Given the description of an element on the screen output the (x, y) to click on. 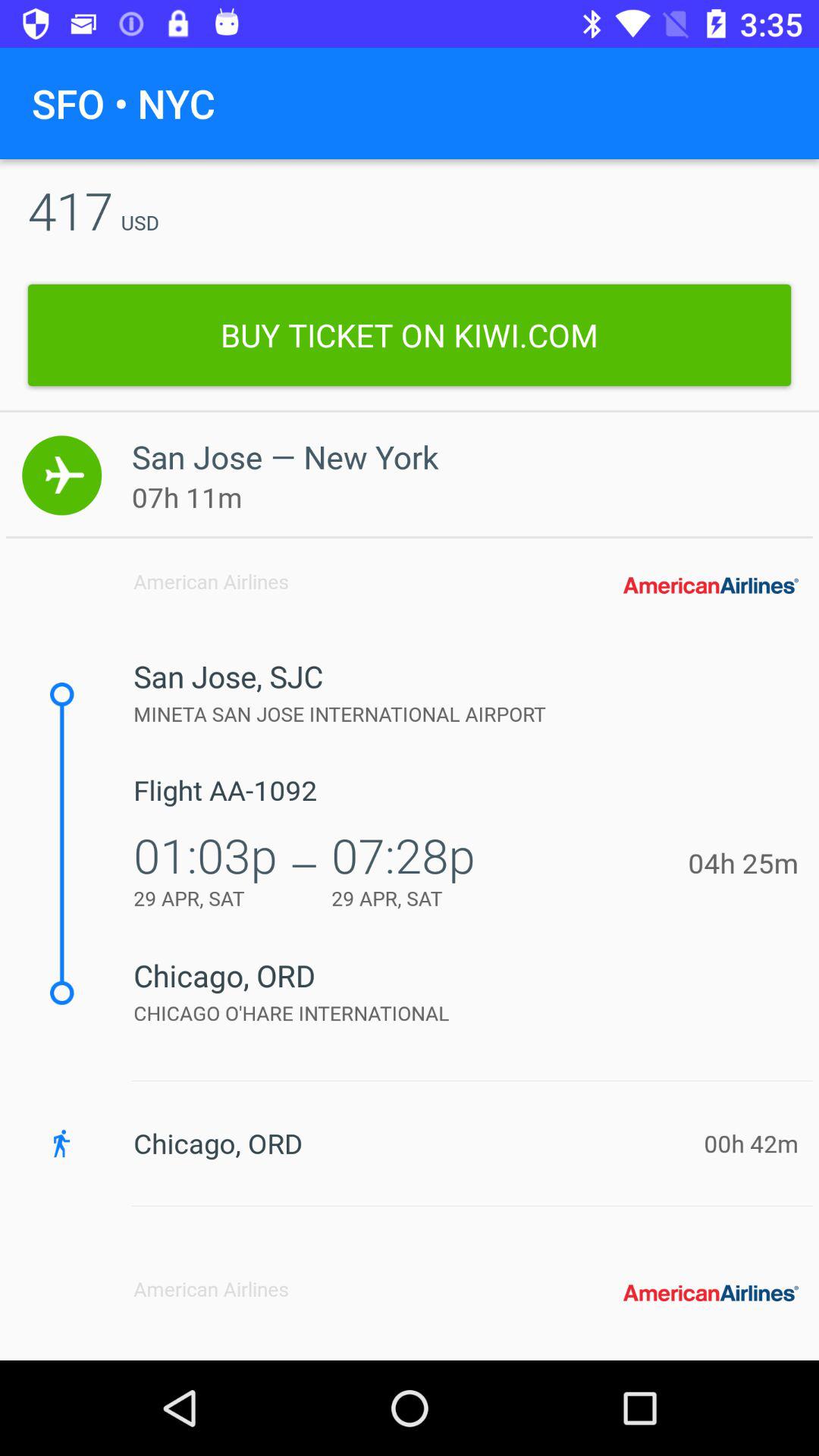
turn off the buy ticket on item (409, 335)
